Given the description of an element on the screen output the (x, y) to click on. 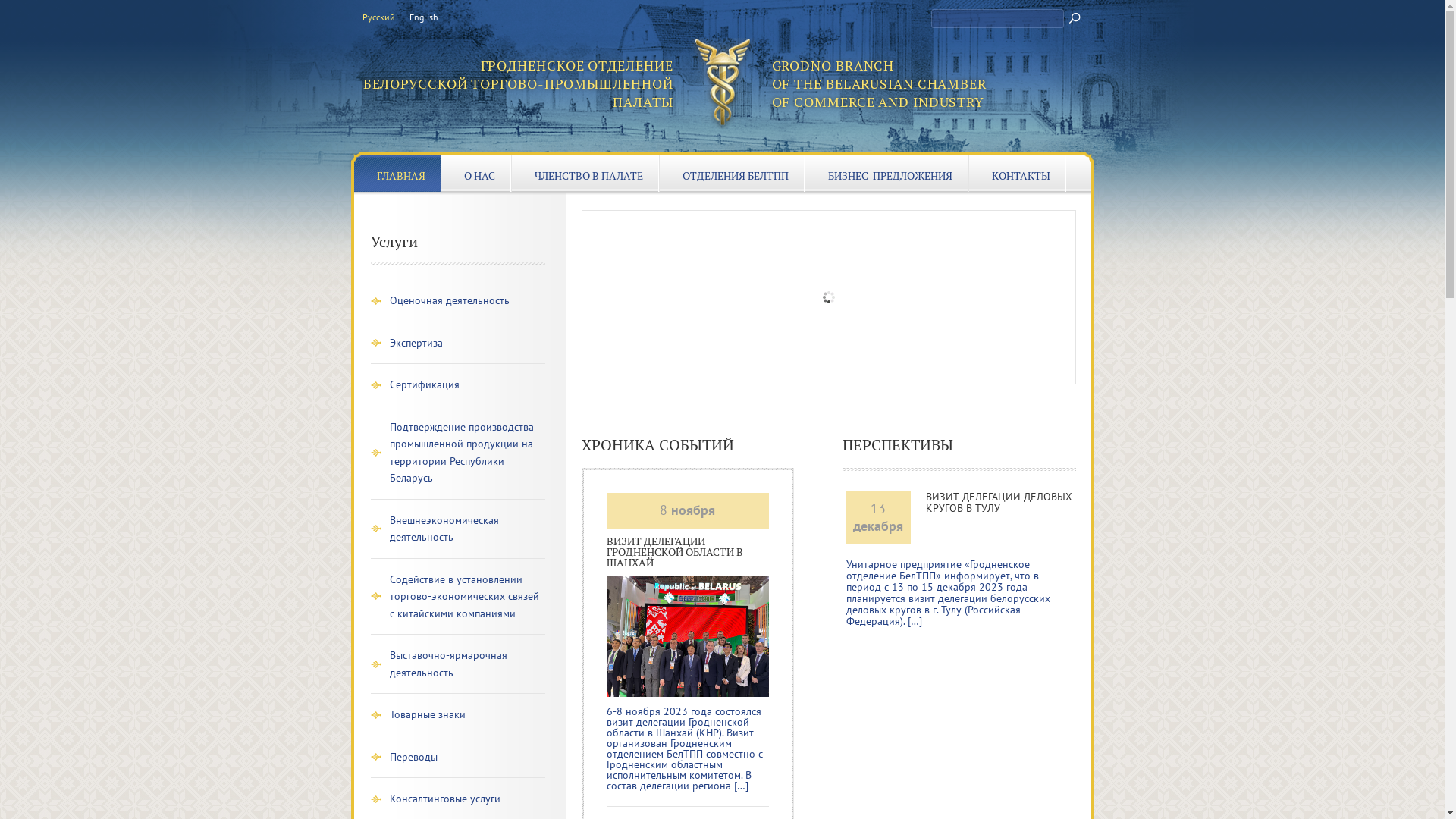
English Element type: text (423, 17)
Search Element type: text (1074, 17)
